Given the description of an element on the screen output the (x, y) to click on. 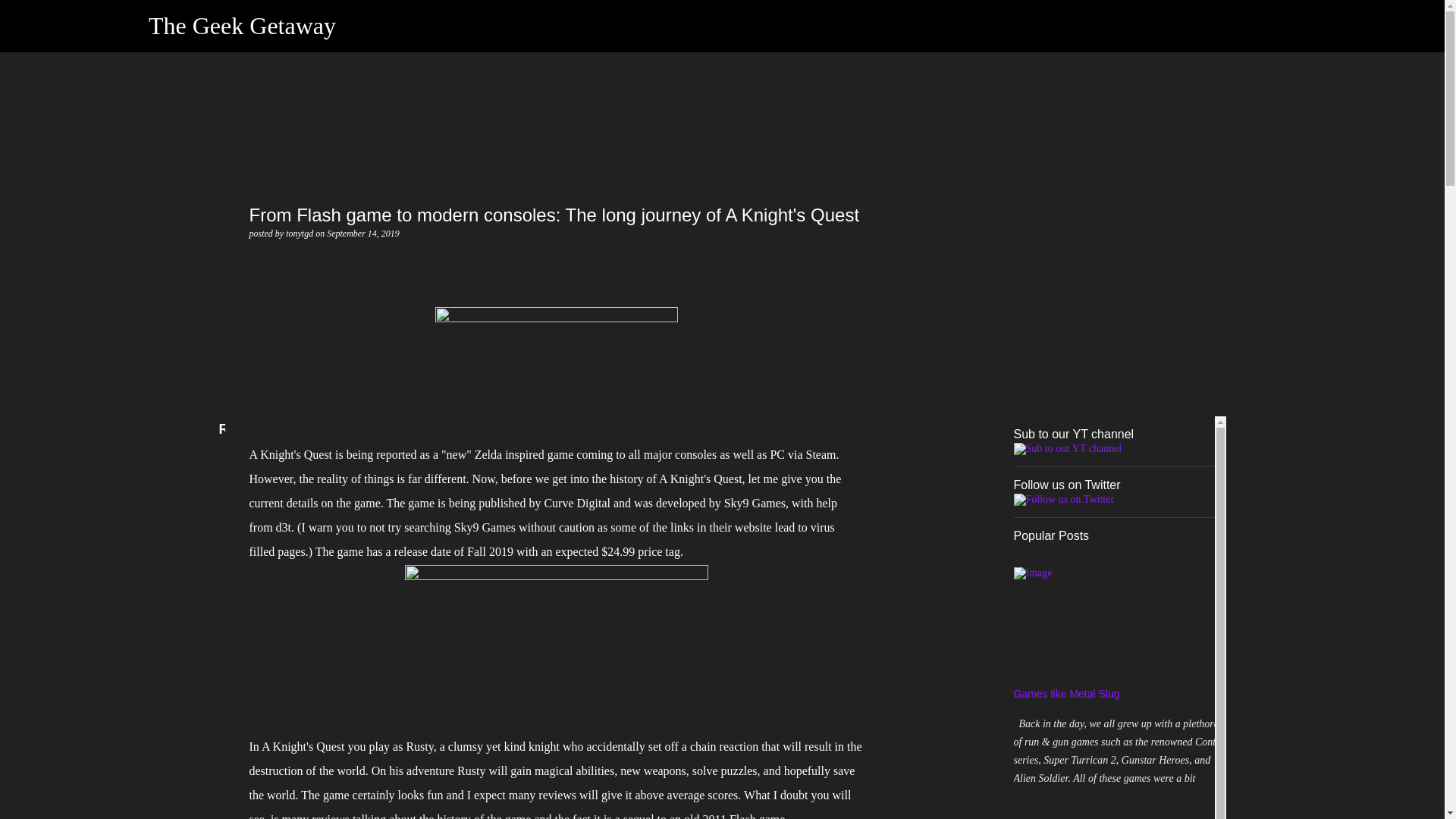
Games like Metal Slug (1066, 693)
September 14, 2019 (362, 233)
permanent link (362, 233)
The Geek Getaway (242, 25)
